Given the description of an element on the screen output the (x, y) to click on. 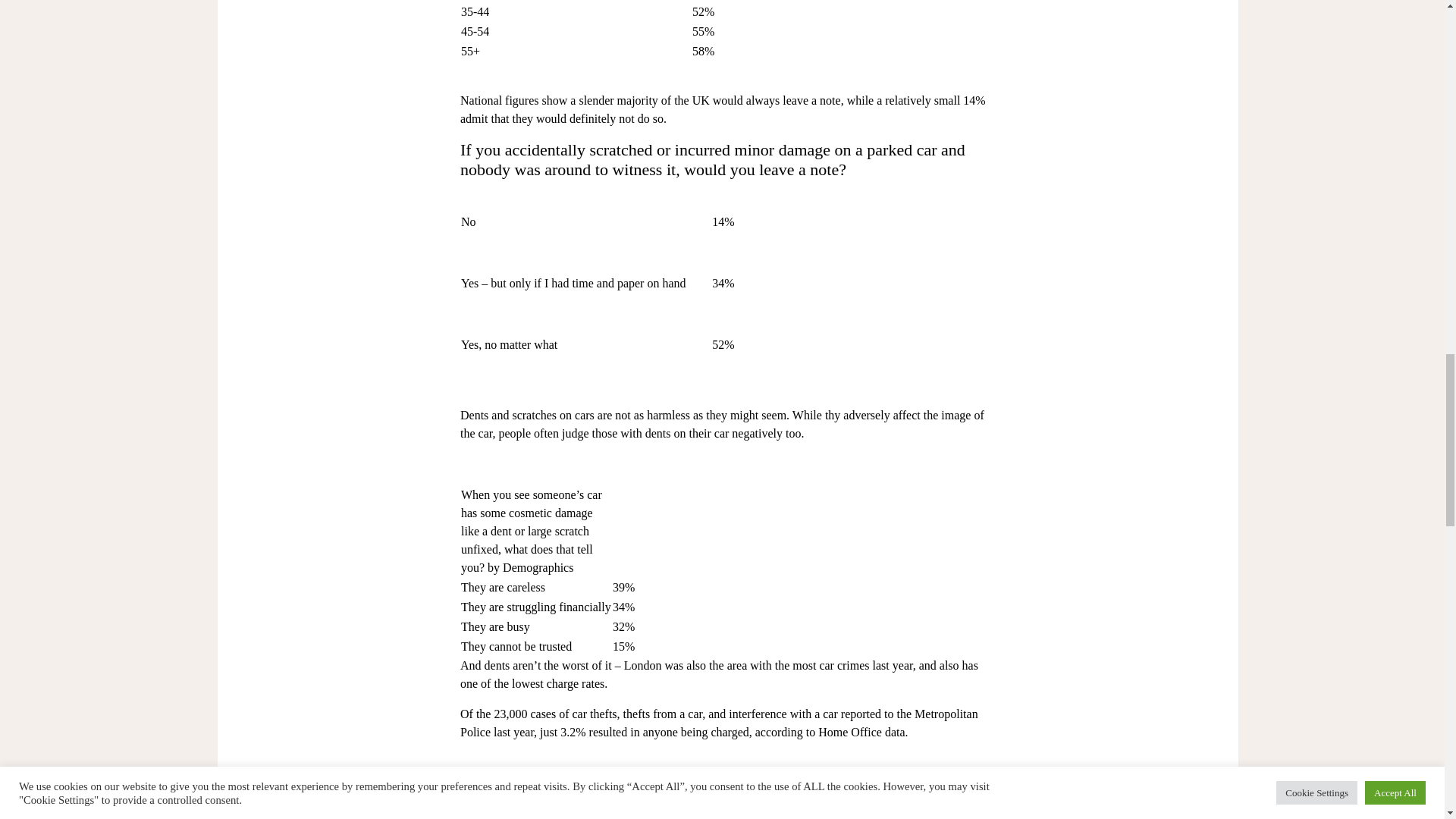
3rd party ad content (727, 786)
